Given the description of an element on the screen output the (x, y) to click on. 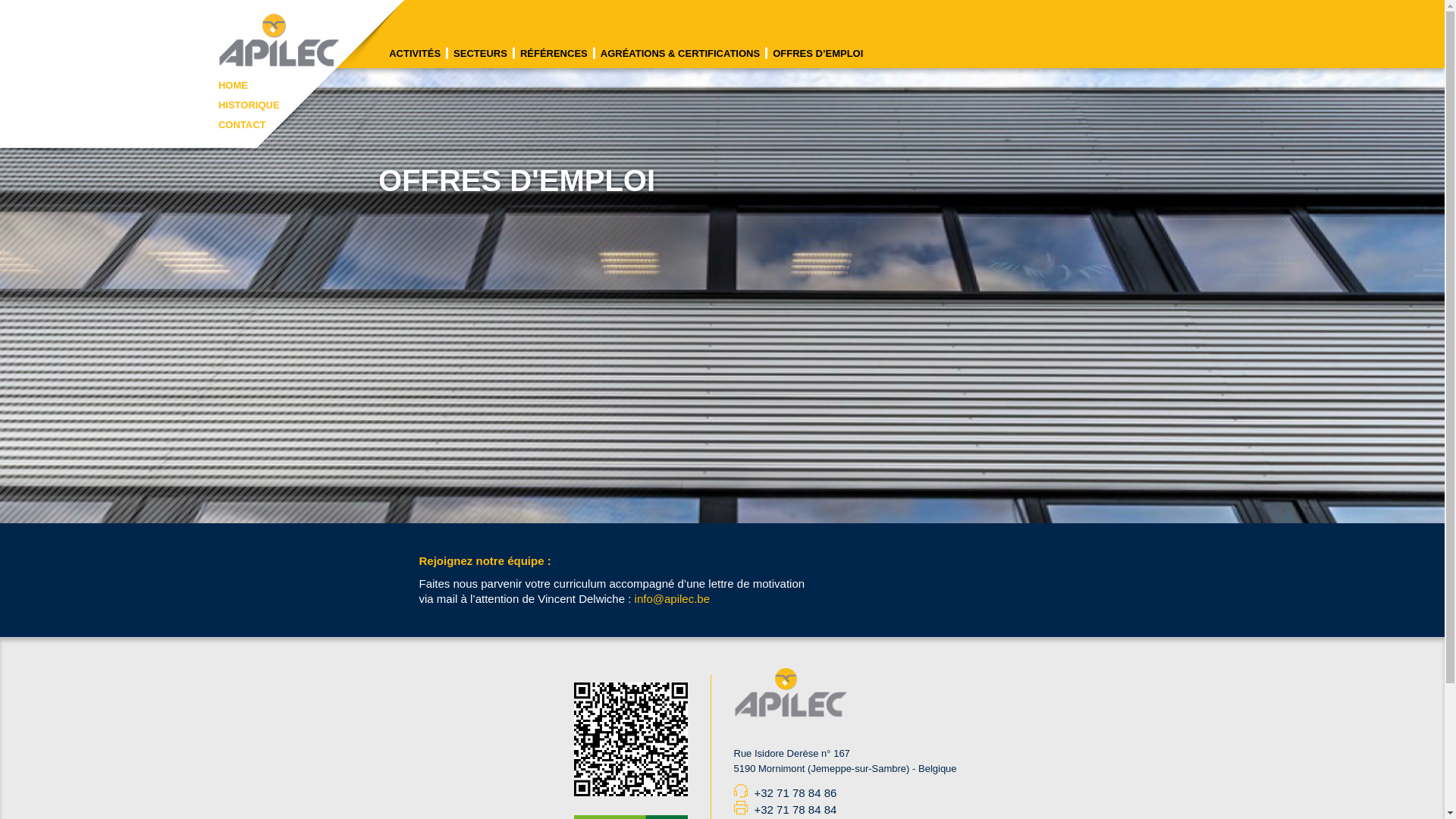
HOME Element type: text (232, 85)
SECTEURS Element type: text (481, 52)
info@apilec.be Element type: text (671, 598)
HISTORIQUE Element type: text (248, 104)
CONTACT Element type: text (242, 124)
